Given the description of an element on the screen output the (x, y) to click on. 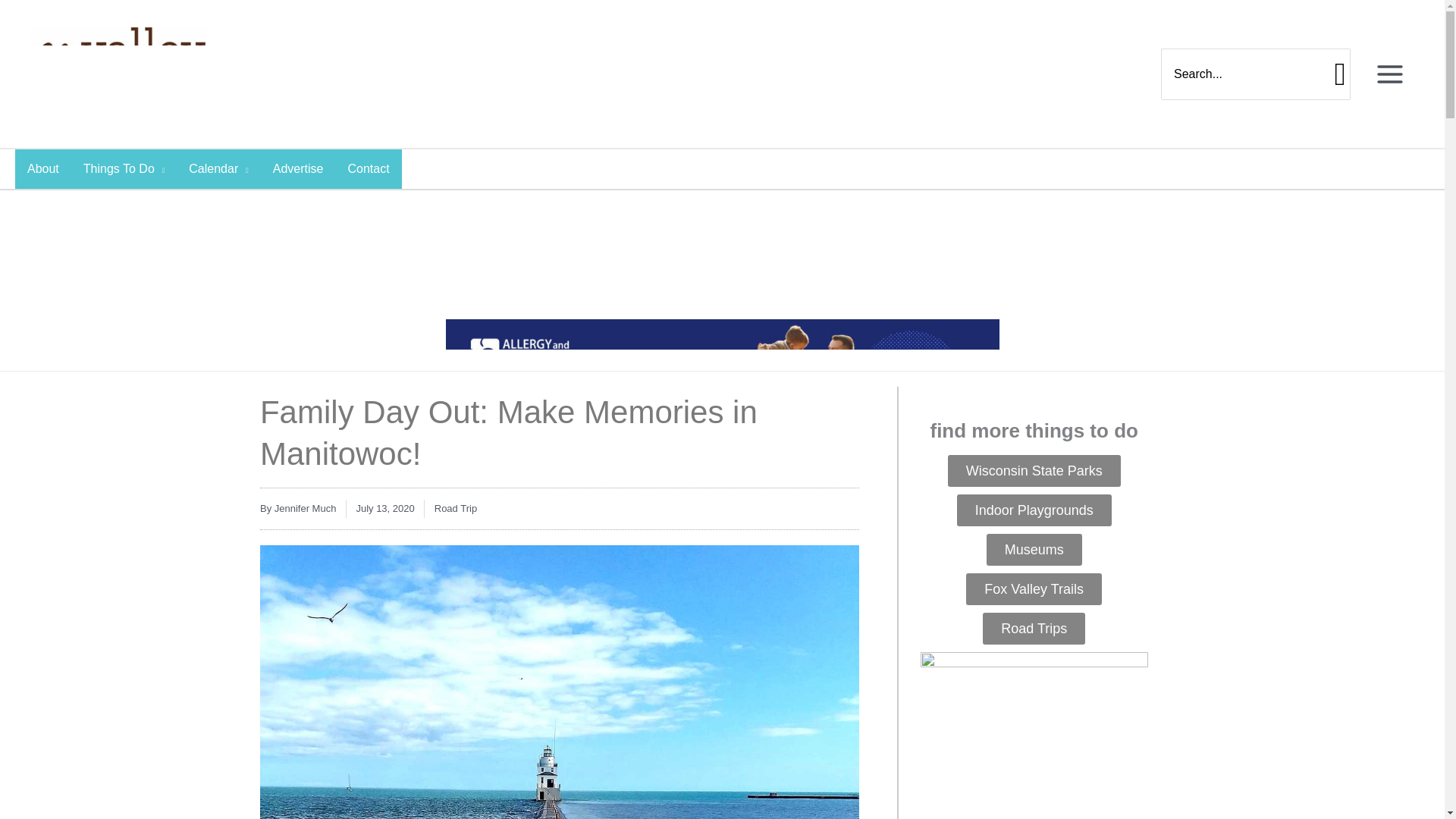
July 13, 2020 (384, 508)
About (42, 169)
Contact (367, 169)
Advertise (298, 169)
Calendar (218, 169)
Things To Do (124, 169)
By Jennifer Much (298, 508)
Road Trip (455, 508)
